Given the description of an element on the screen output the (x, y) to click on. 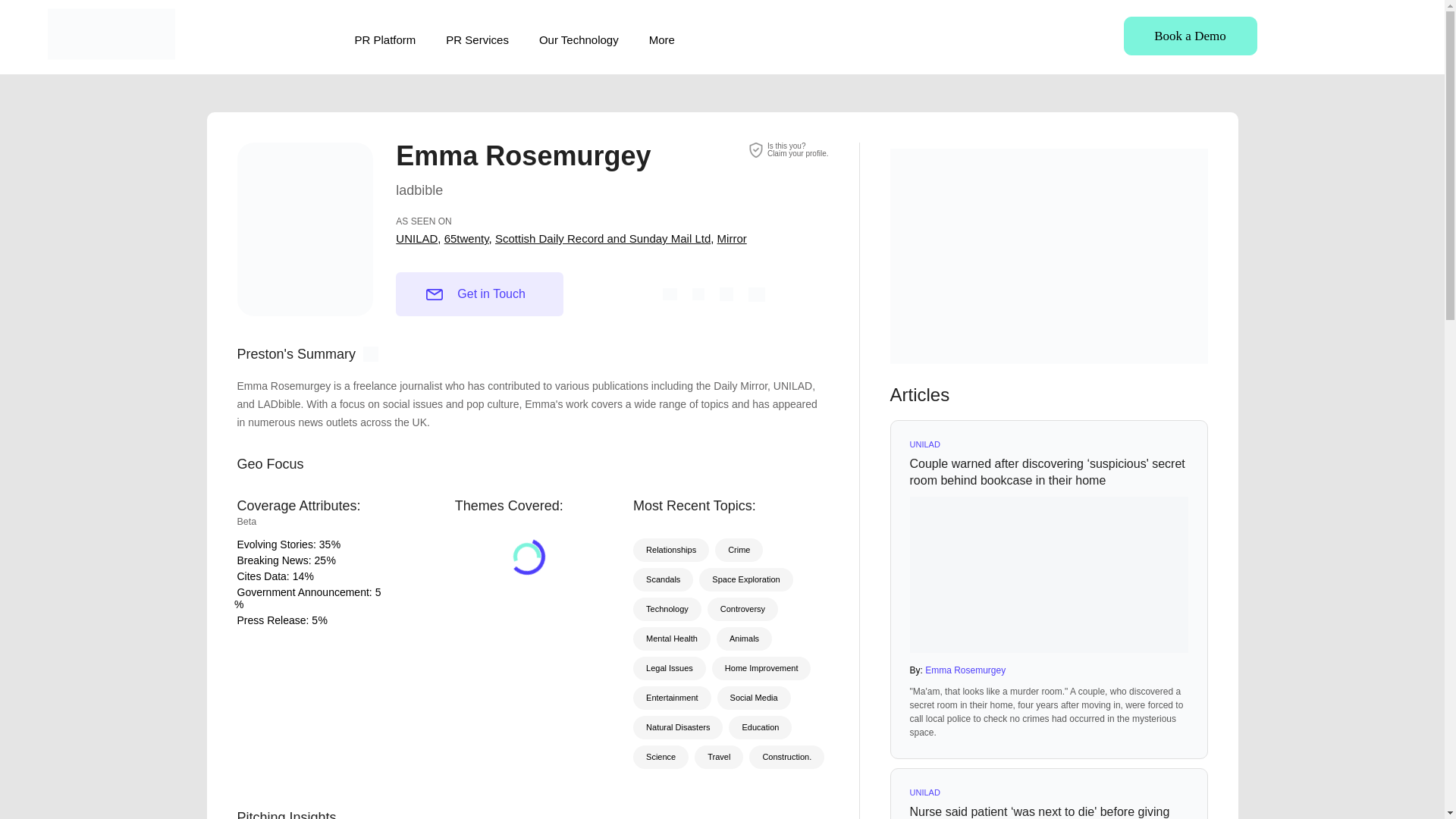
PR Services (797, 149)
Our Technology (476, 39)
25 (578, 39)
UNILAD (320, 560)
More (417, 237)
Scottish Daily Record and Sunday Mail Ltd (662, 39)
14 (602, 237)
35 (298, 576)
65twenty (324, 544)
